Given the description of an element on the screen output the (x, y) to click on. 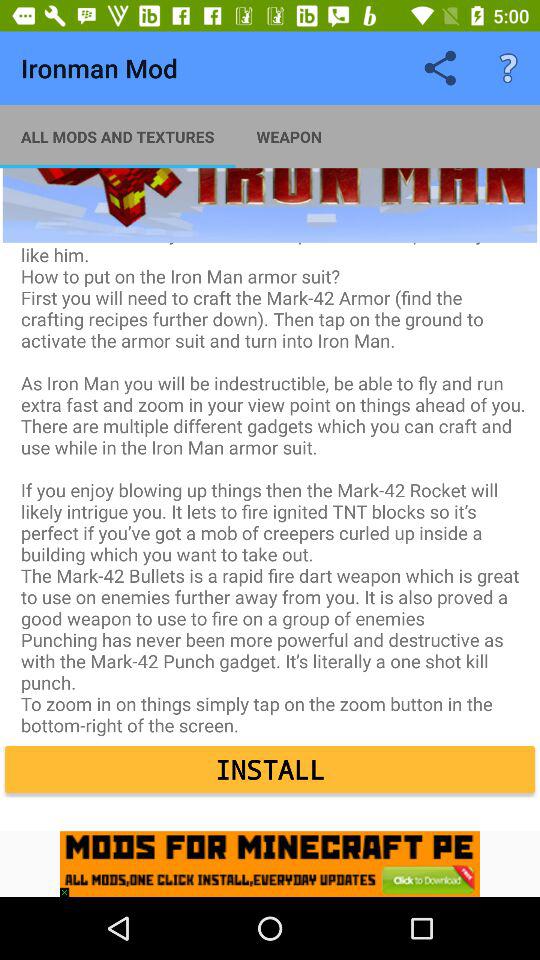
tap the app to the right of all mods and app (289, 136)
